Given the description of an element on the screen output the (x, y) to click on. 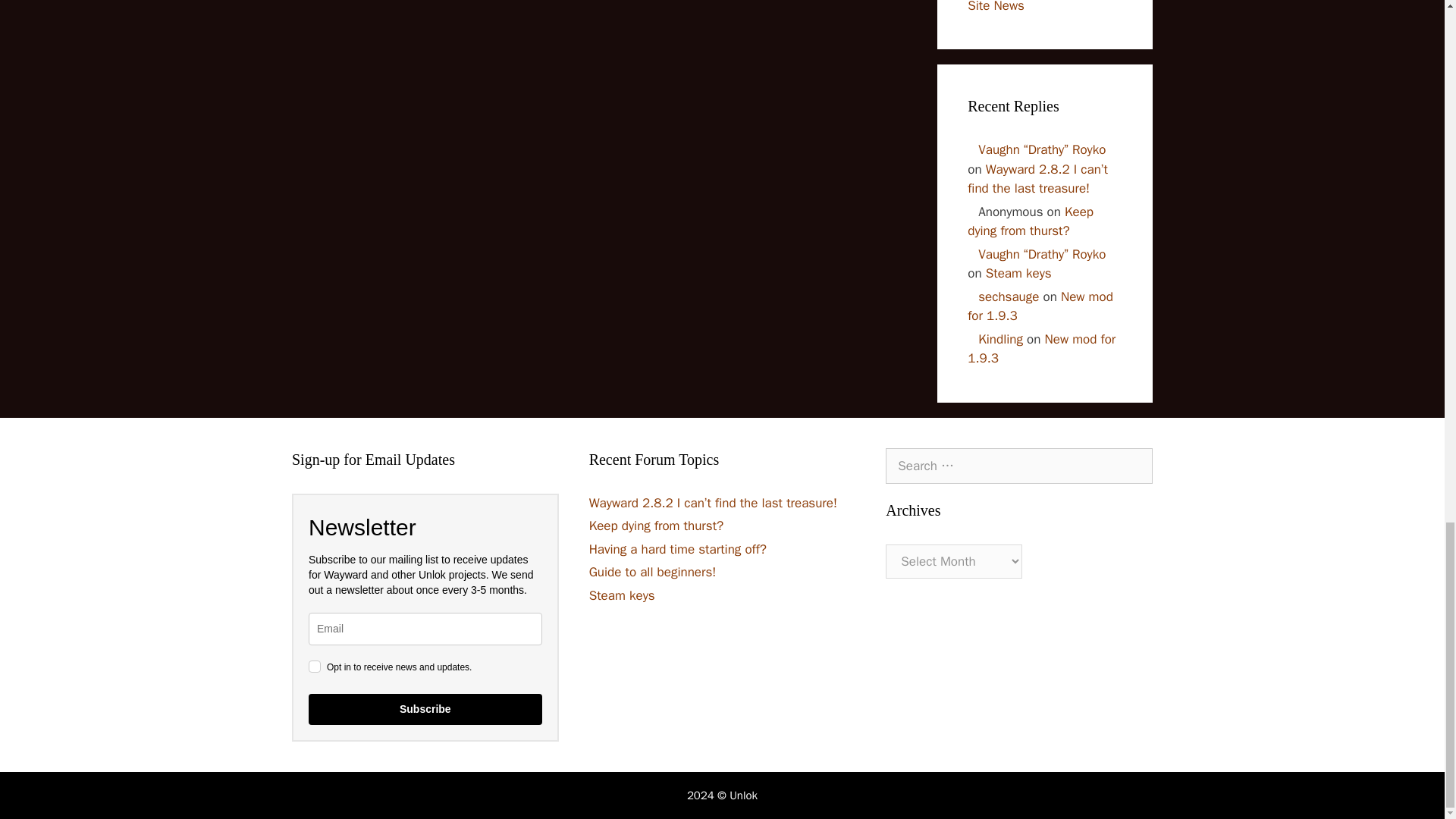
View Kindling's profile (995, 339)
View sechsauge's profile (1003, 296)
